Given the description of an element on the screen output the (x, y) to click on. 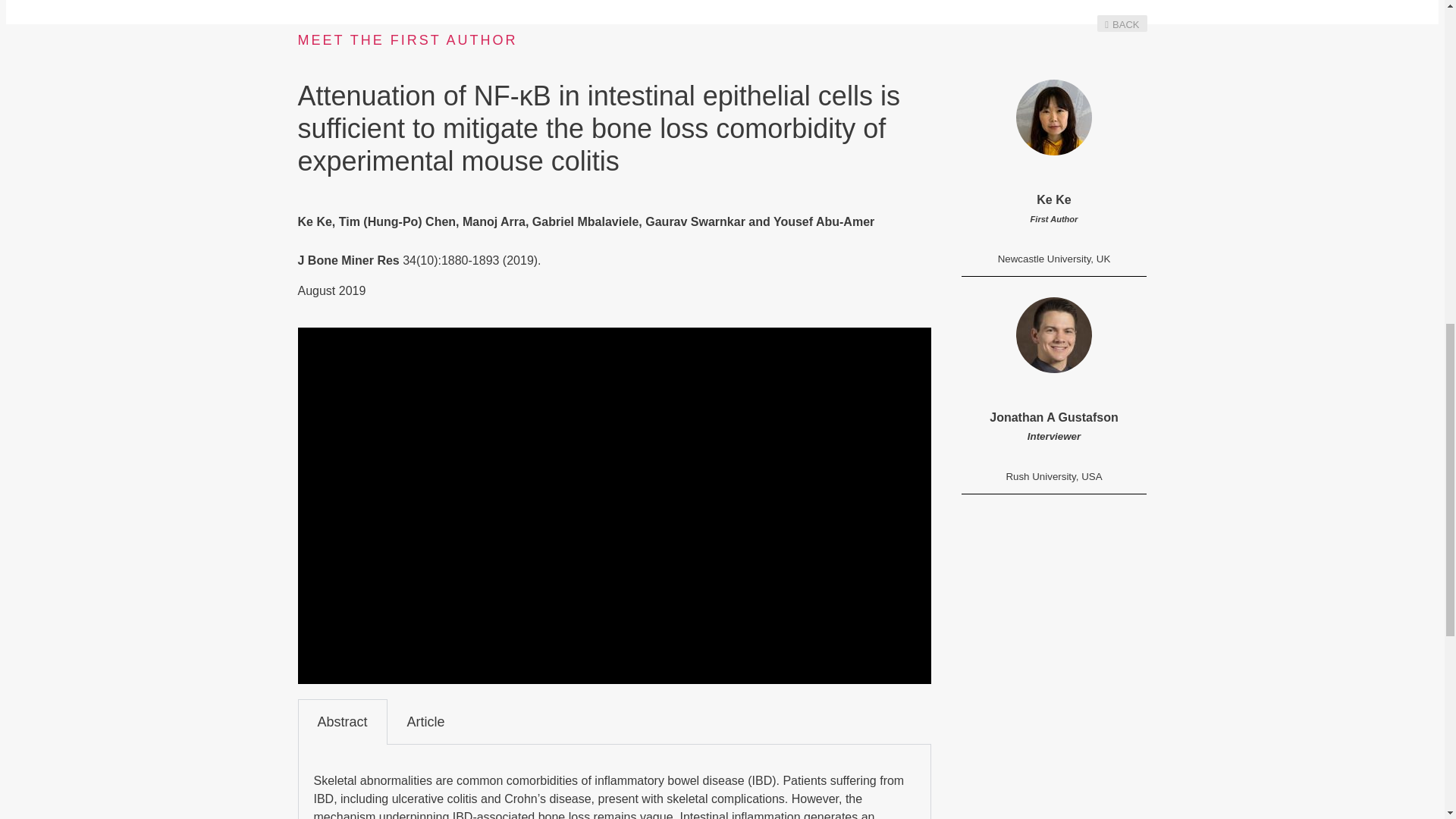
Scroll back to top (1406, 720)
BACK (1122, 23)
